Given the description of an element on the screen output the (x, y) to click on. 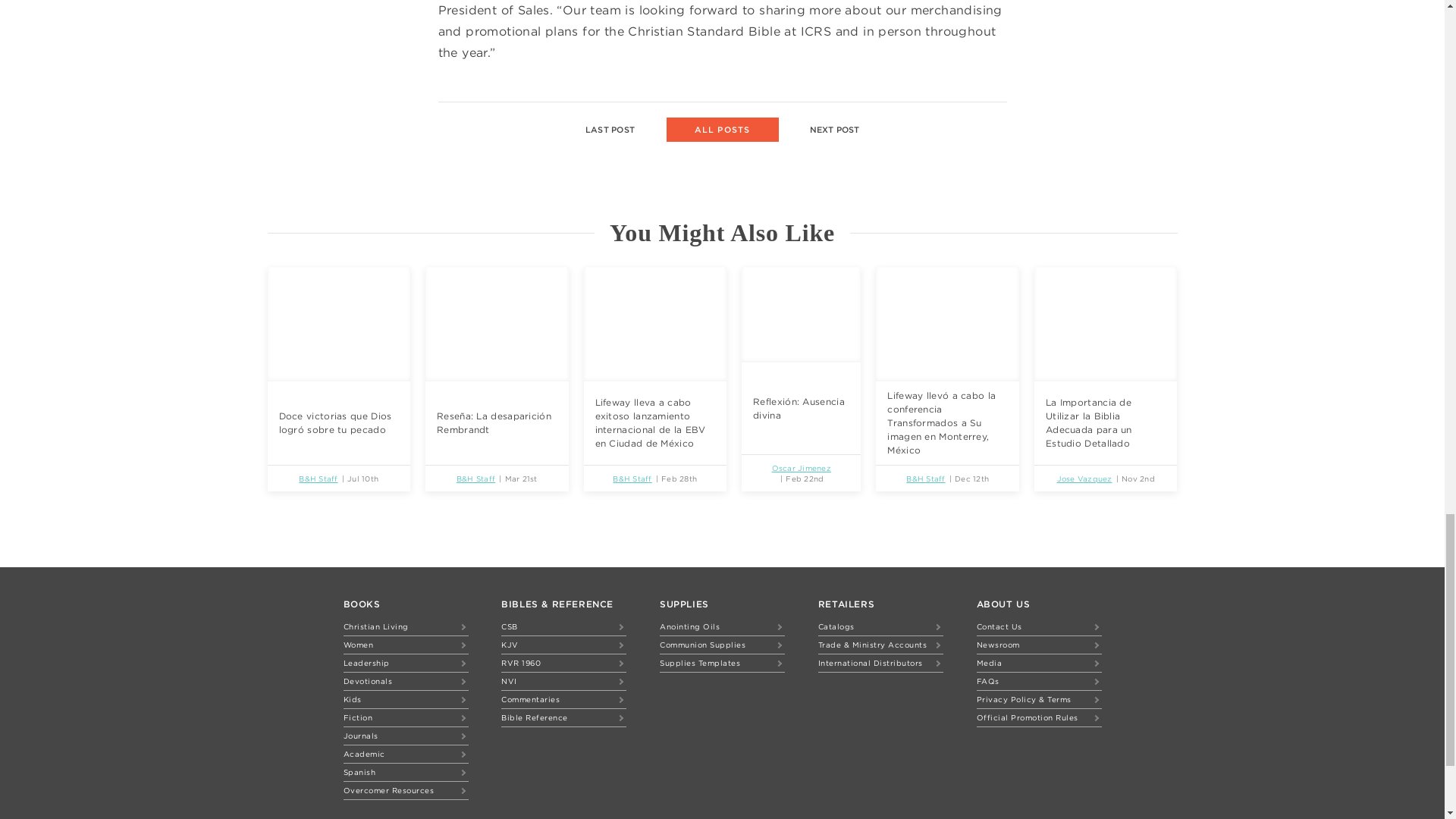
Devotionals (404, 681)
Christian Living (404, 626)
Kids (404, 699)
LAST POST (609, 129)
Overcomer Resources (404, 790)
Spanish (404, 772)
NEXT POST (834, 129)
Academic (404, 753)
Women (404, 644)
ALL POSTS (721, 129)
Journals (404, 735)
Leadership (404, 662)
Fiction (404, 717)
CSB (563, 626)
KJV (563, 644)
